Given the description of an element on the screen output the (x, y) to click on. 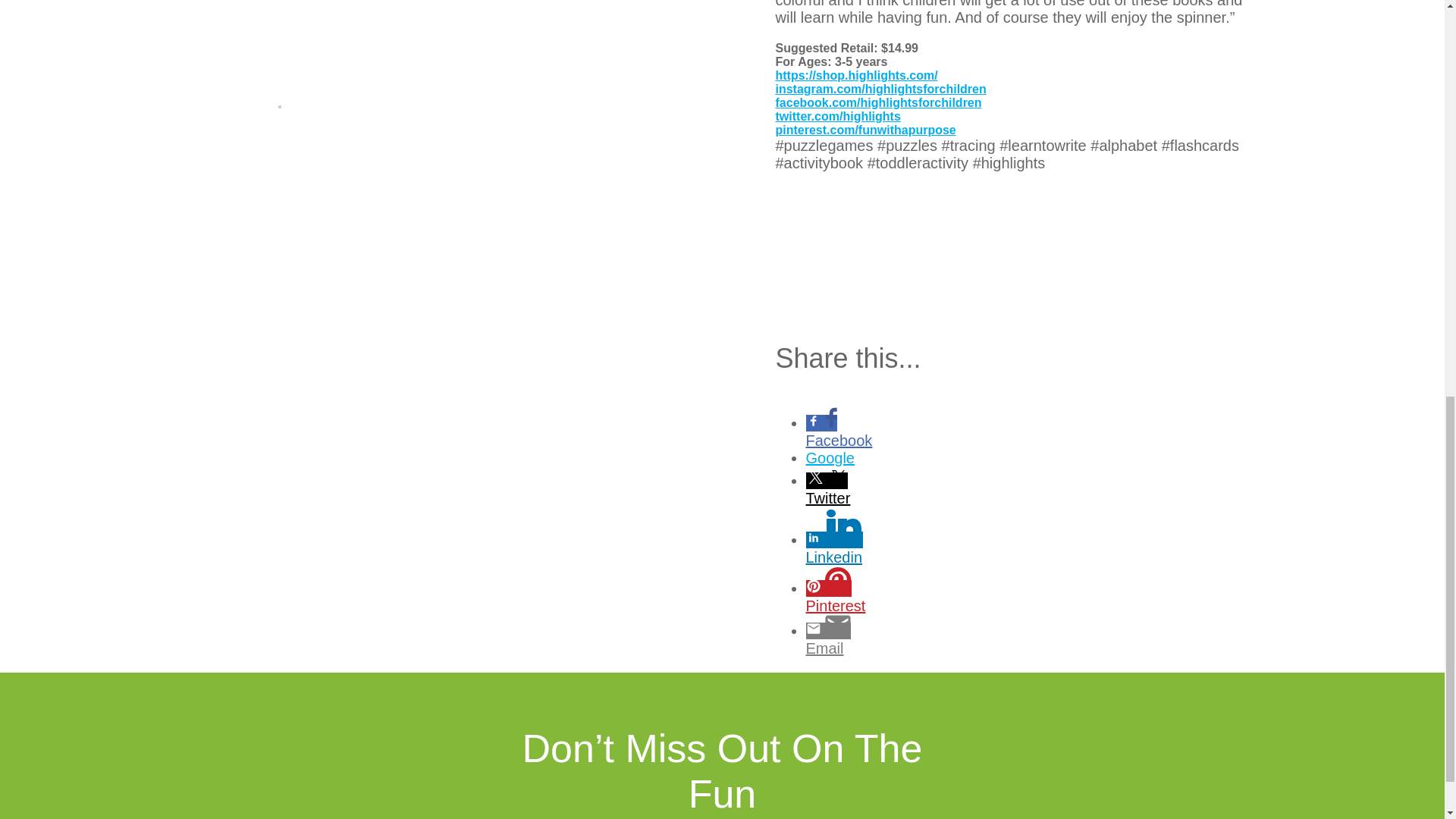
Pinterest (862, 606)
Twitter (862, 497)
Linkedin (862, 557)
Google (862, 457)
Email (862, 648)
Facebook (862, 440)
